Given the description of an element on the screen output the (x, y) to click on. 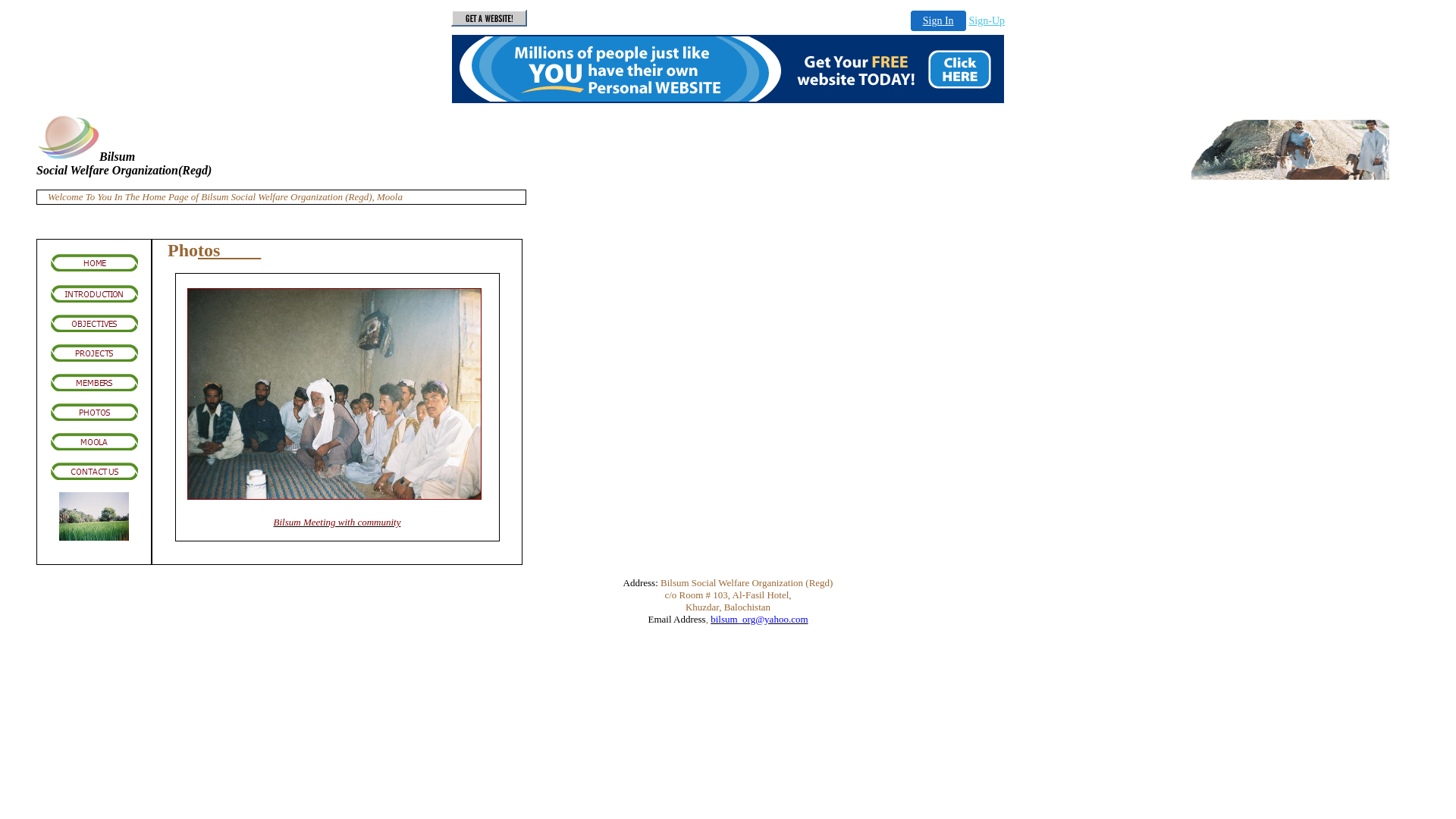
Sign-Up Element type: text (986, 20)
Sign In Element type: text (938, 20)
